Given the description of an element on the screen output the (x, y) to click on. 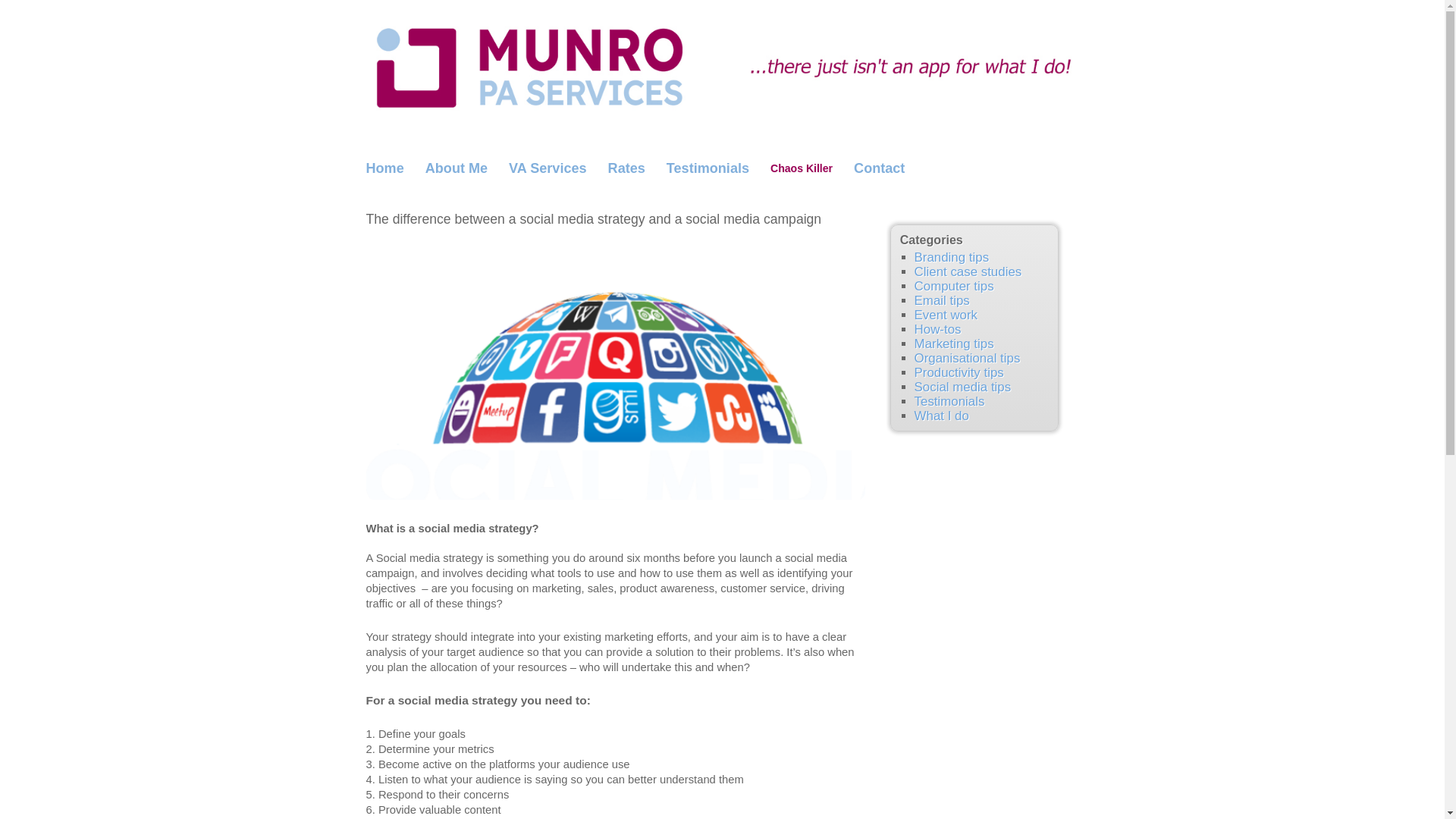
Testimonials (949, 400)
Email tips (941, 300)
Contact (878, 167)
Client case studies (968, 271)
Testimonials (708, 167)
Event work (945, 314)
VA Services (547, 167)
What I do (941, 415)
Computer tips (954, 286)
Marketing tips (954, 343)
Social media tips (962, 386)
Home (384, 167)
Munro PA Services (721, 64)
About Me (456, 167)
Rates (625, 167)
